Given the description of an element on the screen output the (x, y) to click on. 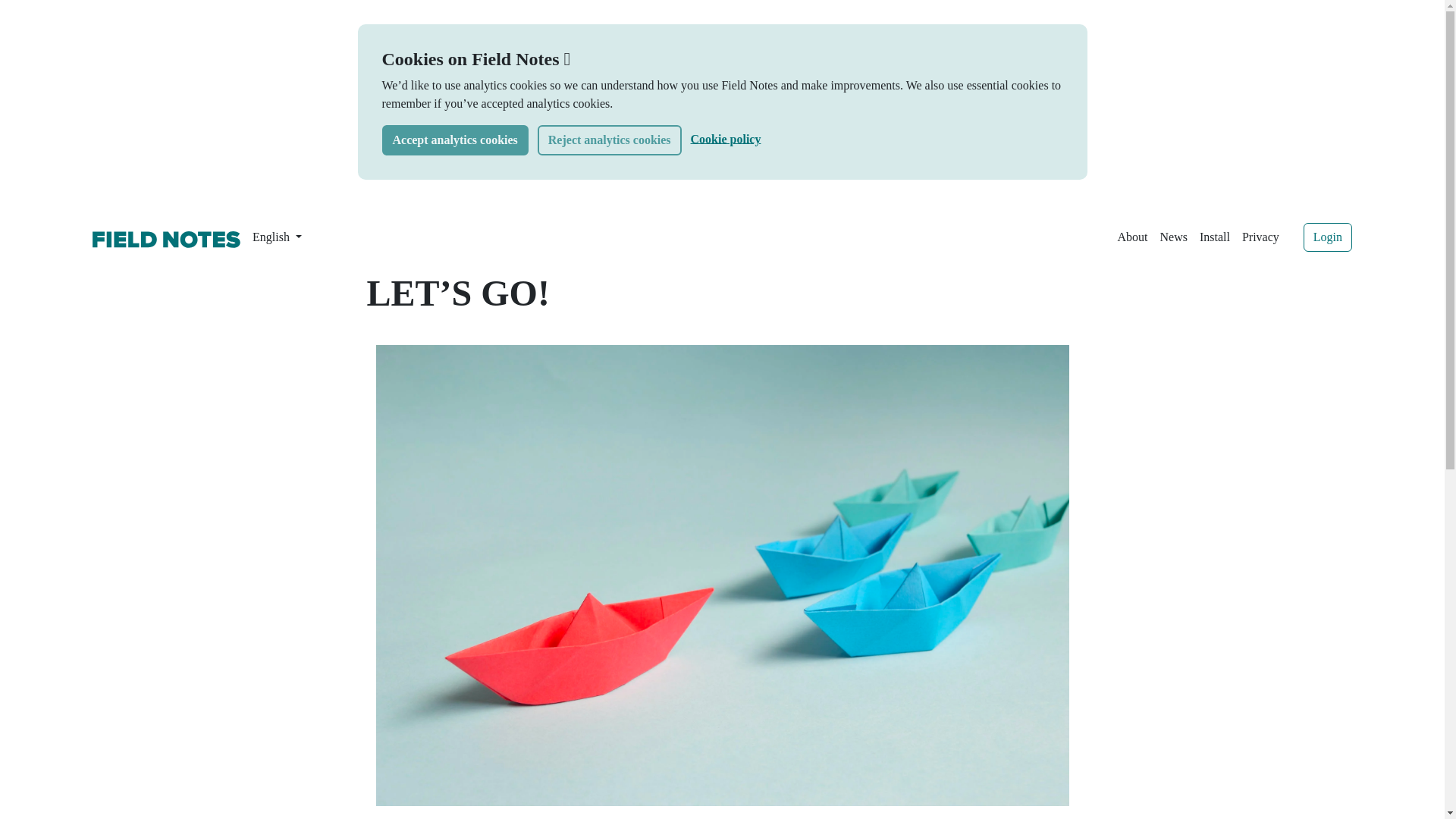
Reject analytics cookies (609, 140)
News (1172, 236)
Cookie policy (725, 137)
Install (1214, 236)
About (1131, 236)
Login (1327, 236)
Accept analytics cookies (454, 140)
Privacy (1260, 236)
